Given the description of an element on the screen output the (x, y) to click on. 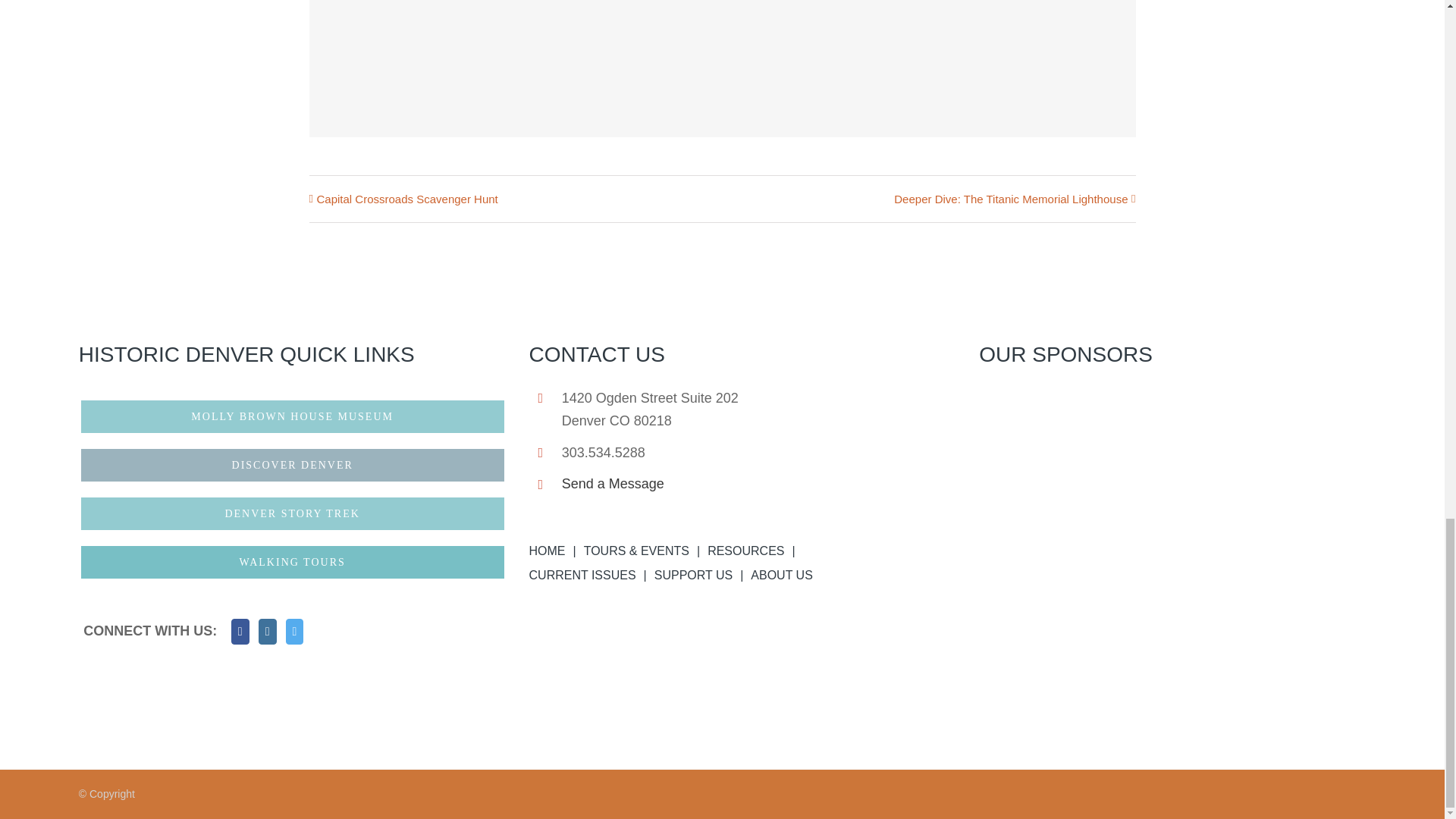
MOLLY BROWN HOUSE MUSEUM (292, 416)
WALKING TOURS (292, 561)
Send a Message (759, 484)
DENVER STORY TREK (292, 513)
mollyBrown (292, 416)
Deeper Dive: The Titanic Memorial Lighthouse (1009, 198)
Capital Crossroads Scavenger Hunt (407, 198)
DISCOVER DENVER (292, 465)
